Given the description of an element on the screen output the (x, y) to click on. 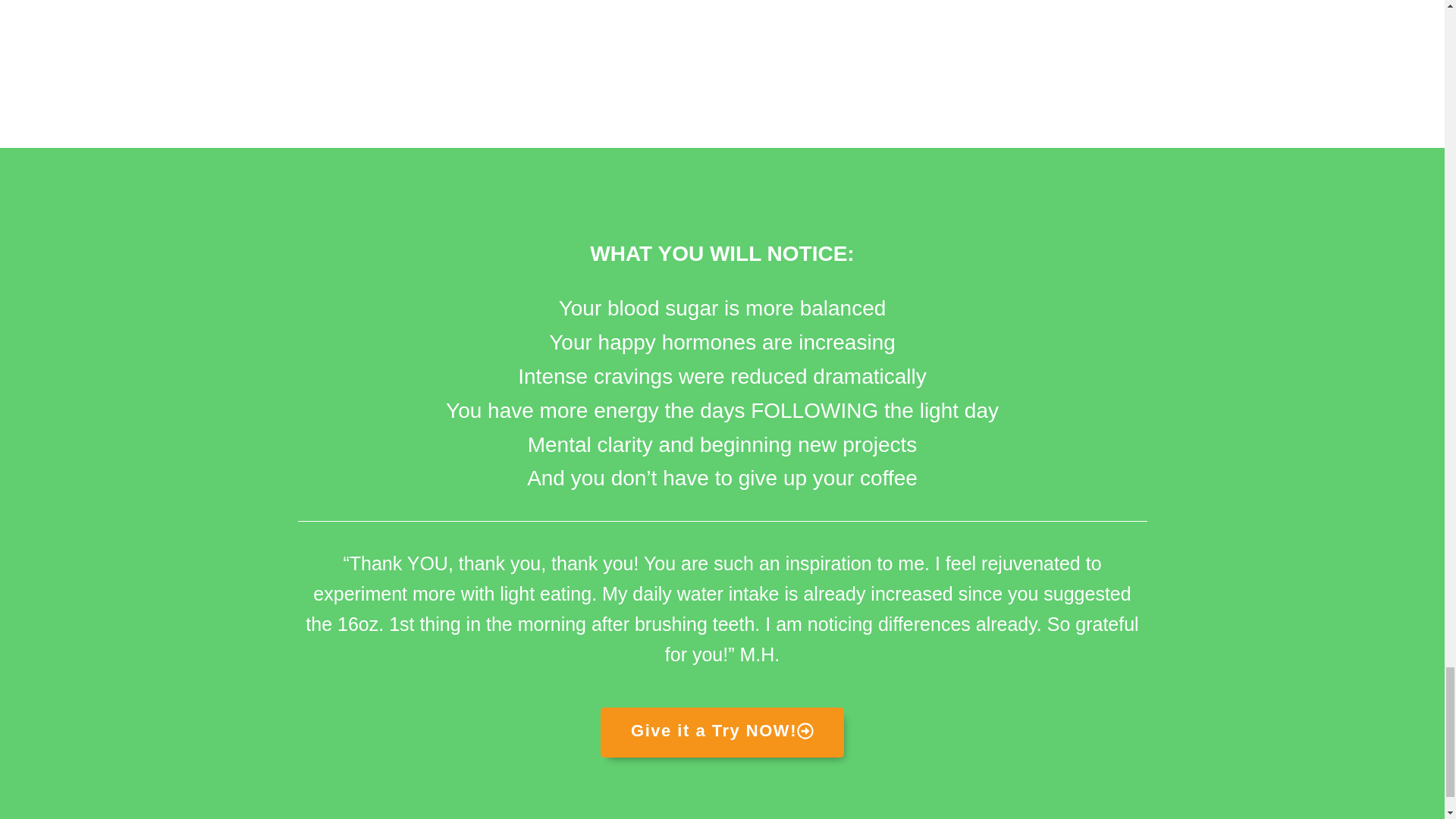
Give it a Try NOW! (721, 732)
